Given the description of an element on the screen output the (x, y) to click on. 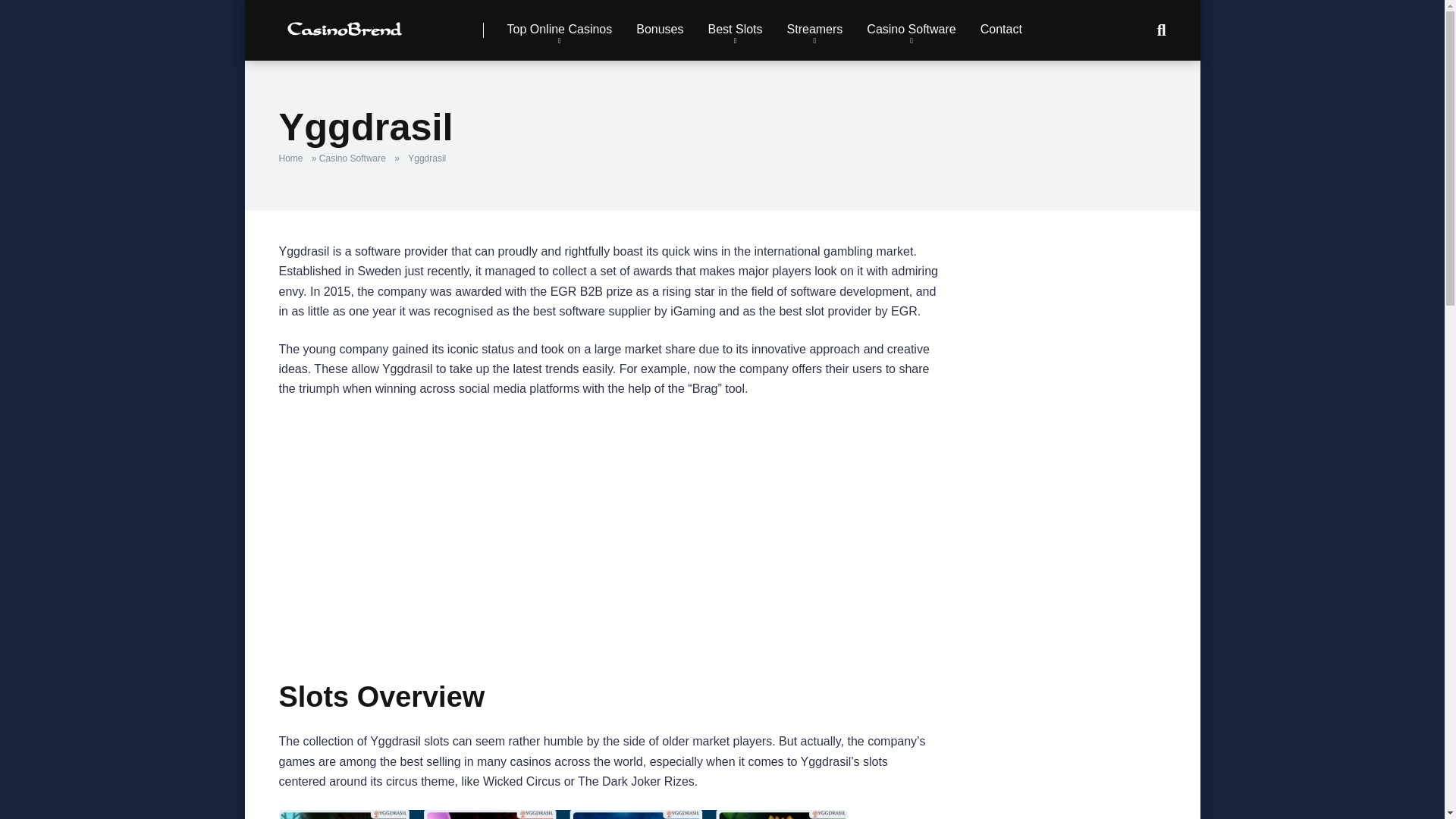
Streamers (815, 30)
Casino Software (911, 30)
Best Slots (734, 30)
Top Online Casinos (559, 30)
Bonuses (659, 30)
